Given the description of an element on the screen output the (x, y) to click on. 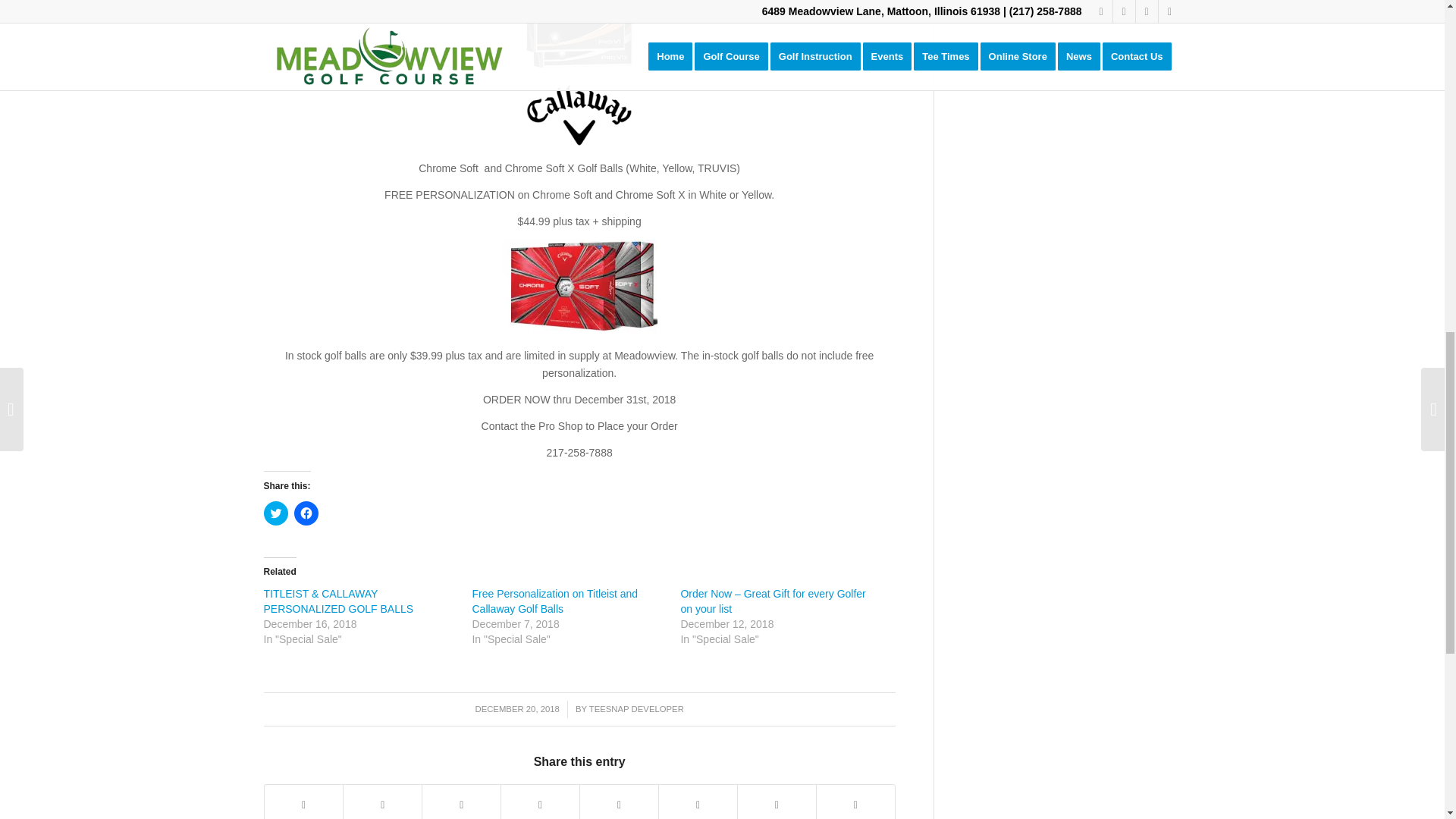
Click to share on Facebook (306, 513)
Free Personalization on Titleist and Callaway Golf Balls (554, 601)
Posts by Teesnap Developer (636, 708)
Free Personalization on Titleist and Callaway Golf Balls (554, 601)
Click to share on Twitter (275, 513)
